Given the description of an element on the screen output the (x, y) to click on. 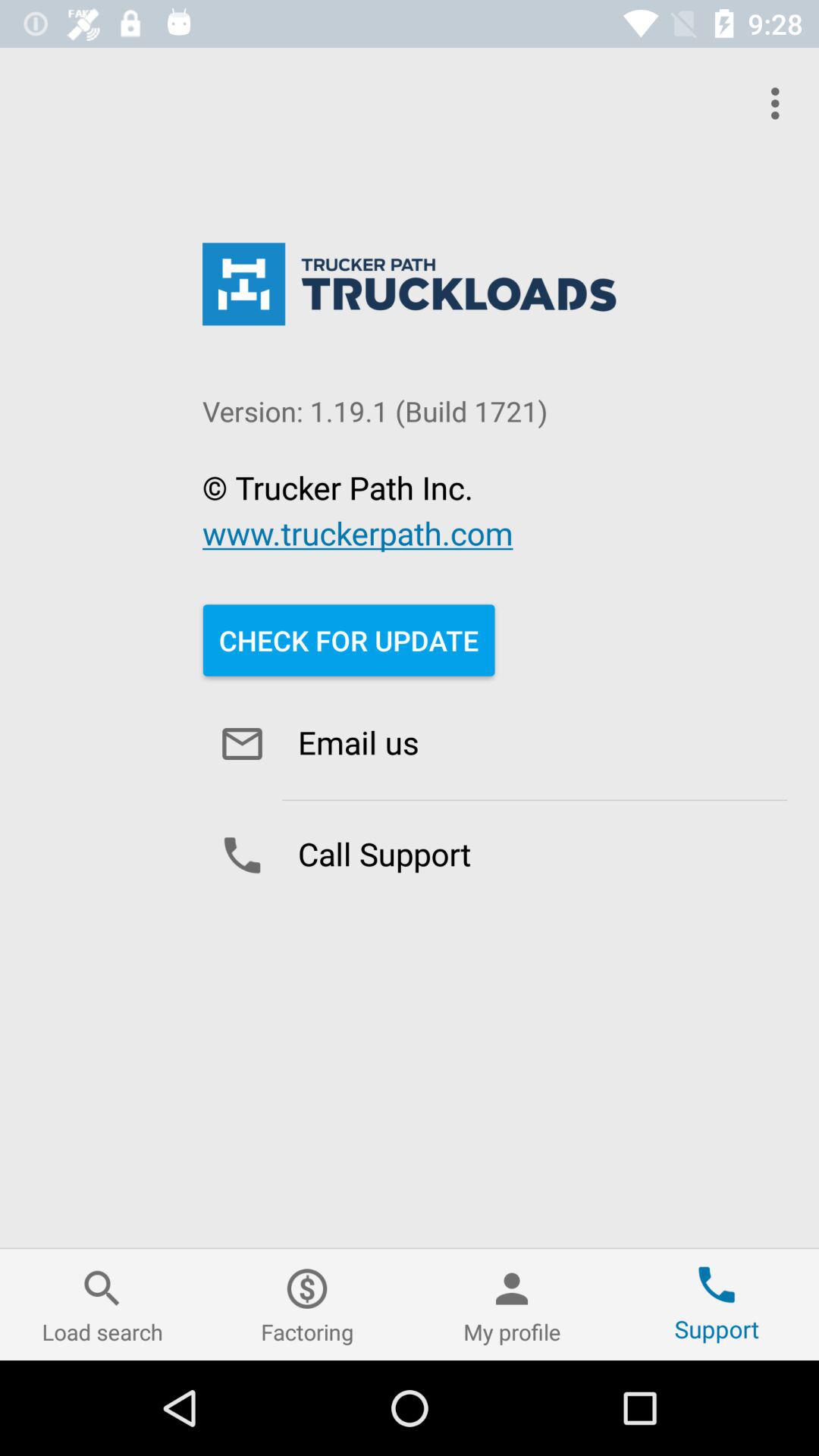
turn off factoring item (306, 1304)
